Given the description of an element on the screen output the (x, y) to click on. 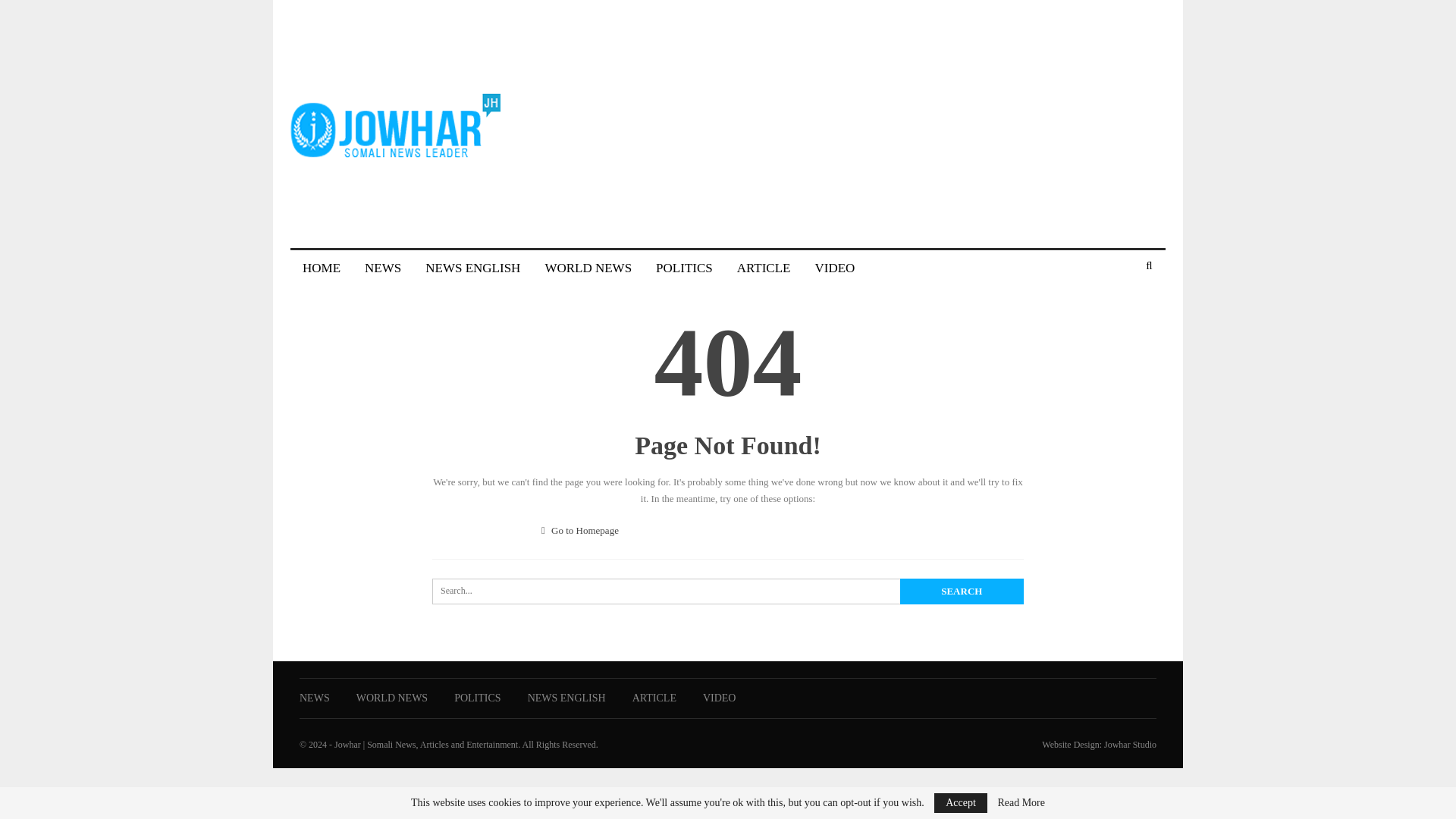
Jowhar Studio (1129, 744)
WORLD NEWS (392, 697)
ARTICLE (764, 268)
Advertisement (889, 121)
Go to Homepage (579, 530)
Search (961, 591)
VIDEO (834, 268)
NEWS ENGLISH (472, 268)
NEWS (314, 697)
HOME (320, 268)
